Given the description of an element on the screen output the (x, y) to click on. 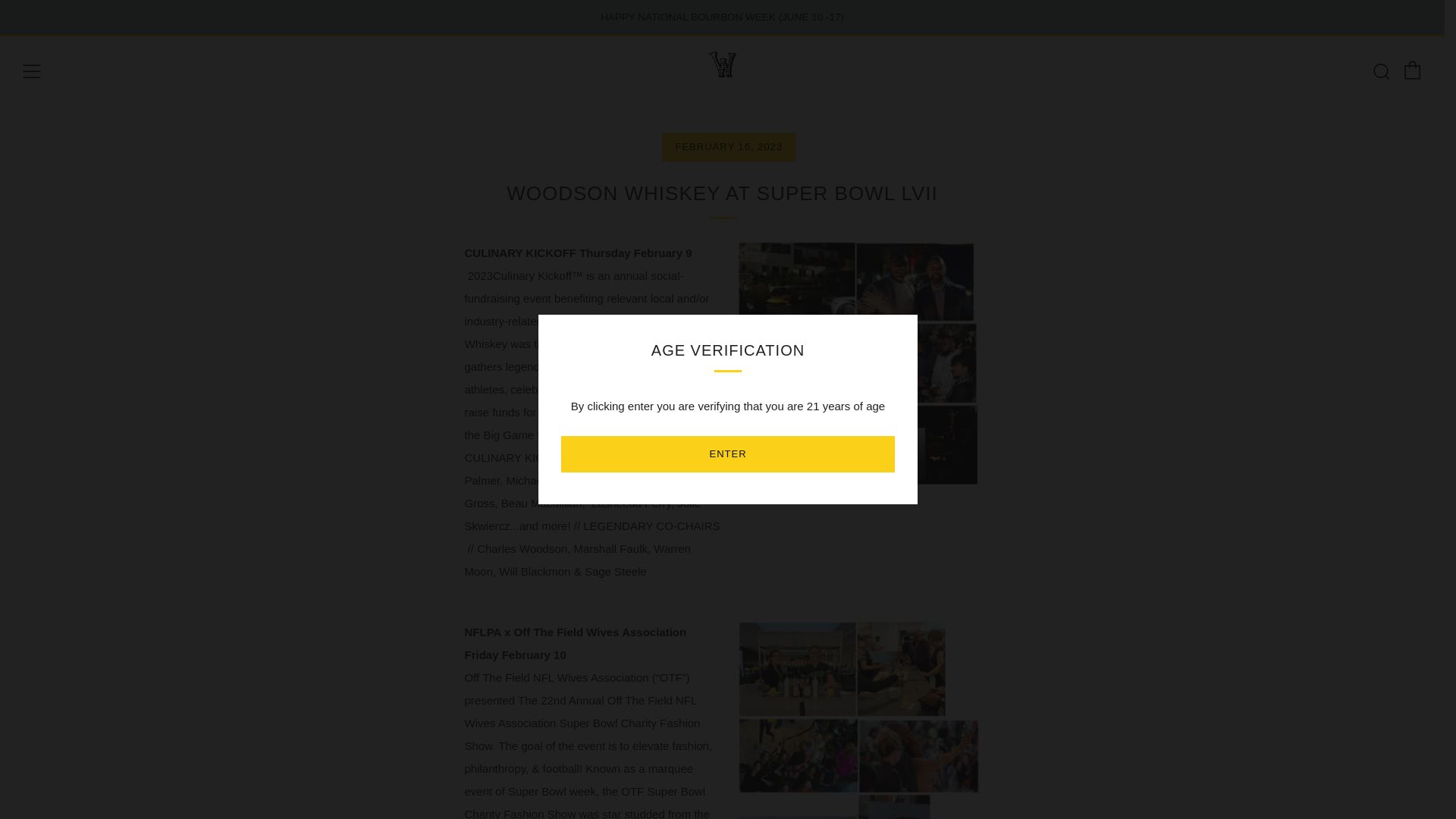
ENTER (727, 453)
Cart (1412, 70)
Search (1380, 71)
Menu (31, 72)
